Given the description of an element on the screen output the (x, y) to click on. 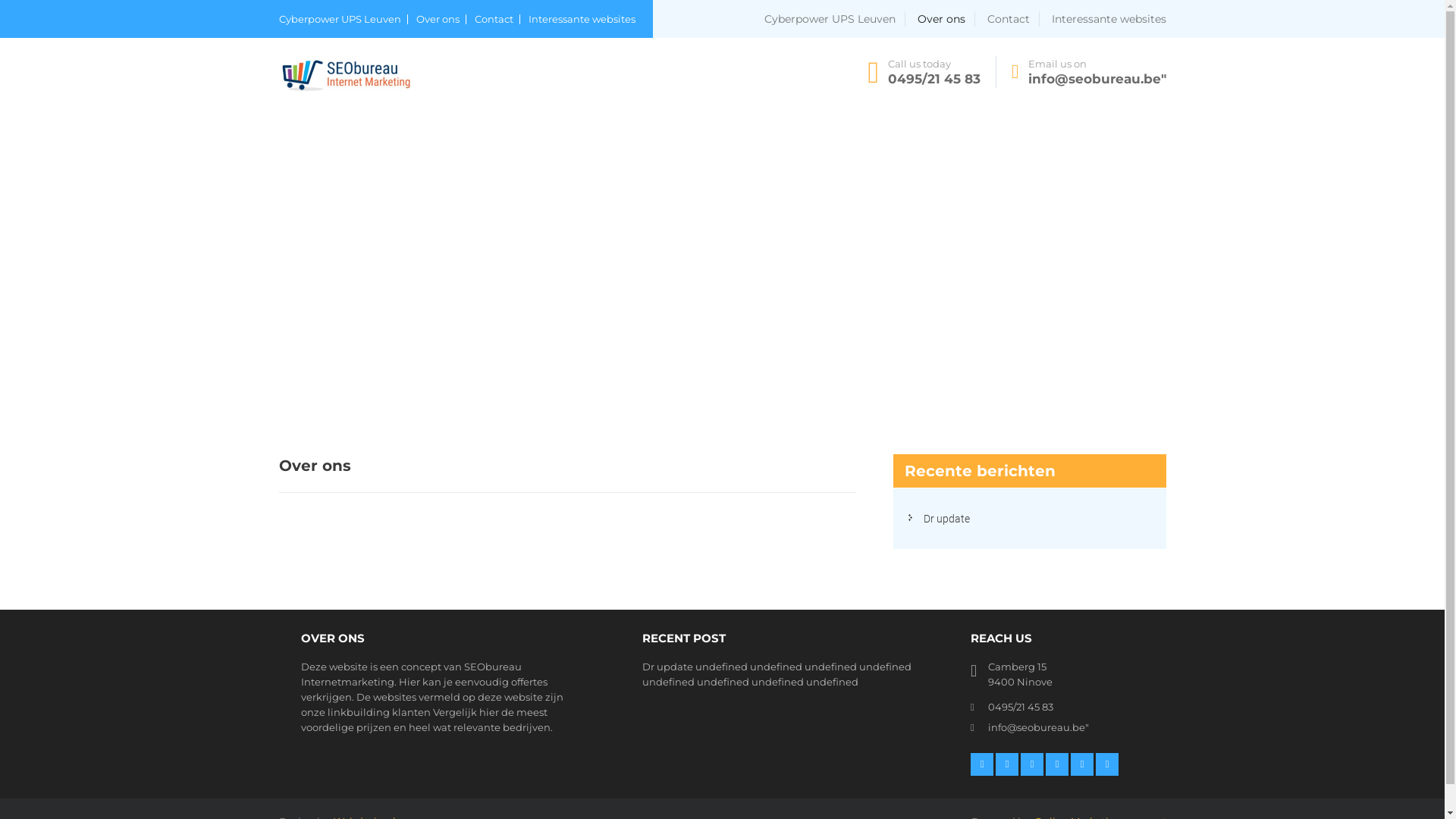
Dr update Element type: text (667, 666)
pinterest Element type: hover (1056, 764)
facebook Element type: hover (981, 764)
Cyberpower UPS Leuven Element type: text (834, 18)
Over ons Element type: text (440, 19)
twitter Element type: hover (1006, 764)
Contact Element type: text (1013, 18)
google-plus Element type: hover (1081, 764)
Over ons Element type: text (946, 18)
Cyberpower UPS Leuven Element type: text (343, 19)
info@seobureau.be" Element type: text (1097, 78)
Interessante websites Element type: text (1108, 18)
Contact Element type: text (497, 19)
info@seobureau.be" Element type: text (1036, 727)
linkedin Element type: hover (1031, 764)
Dr update Element type: text (946, 518)
youtube Element type: hover (1106, 764)
Interessante websites Element type: text (580, 19)
